Given the description of an element on the screen output the (x, y) to click on. 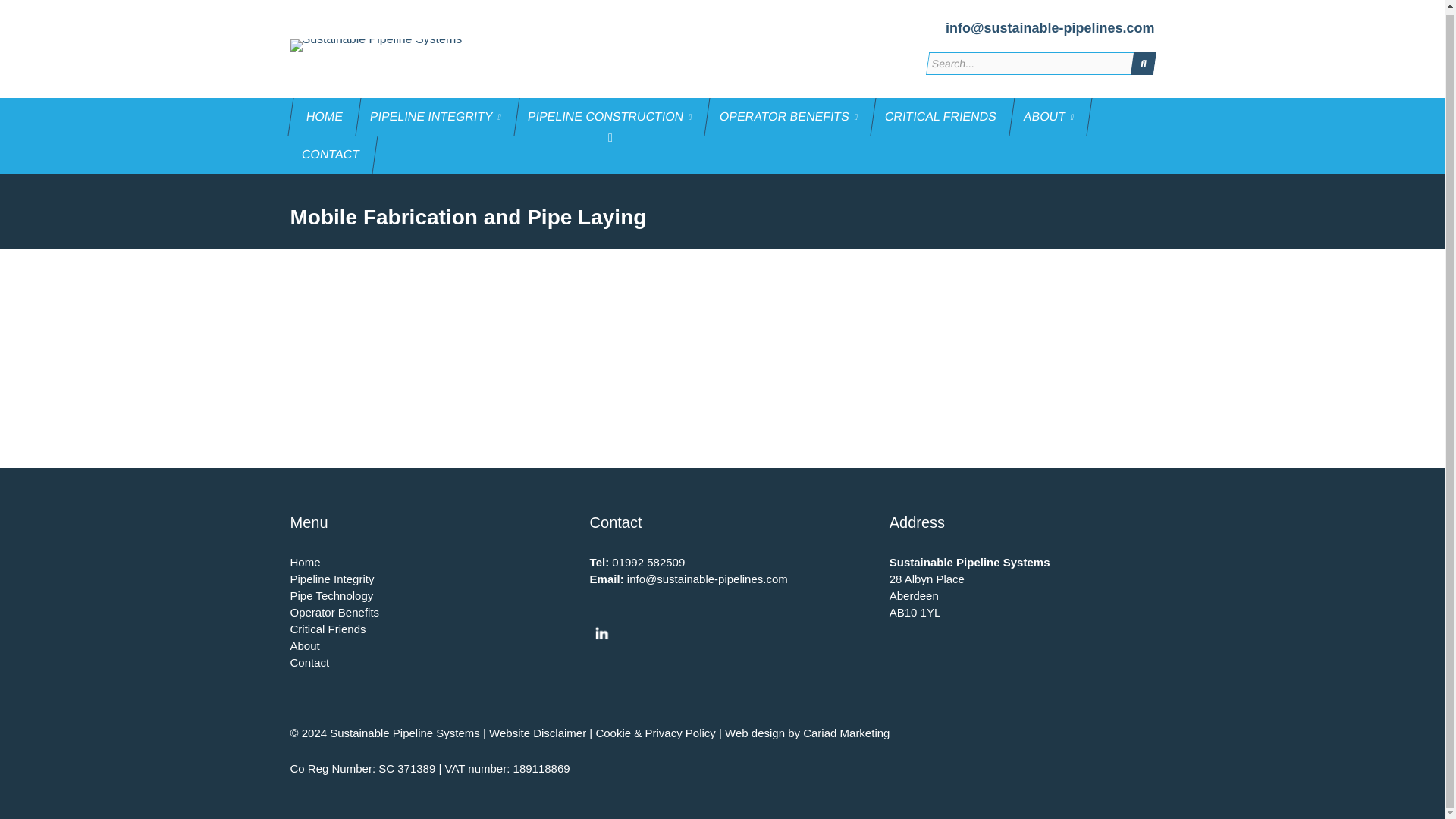
Sustainable Pipeline Systems (385, 45)
